Given the description of an element on the screen output the (x, y) to click on. 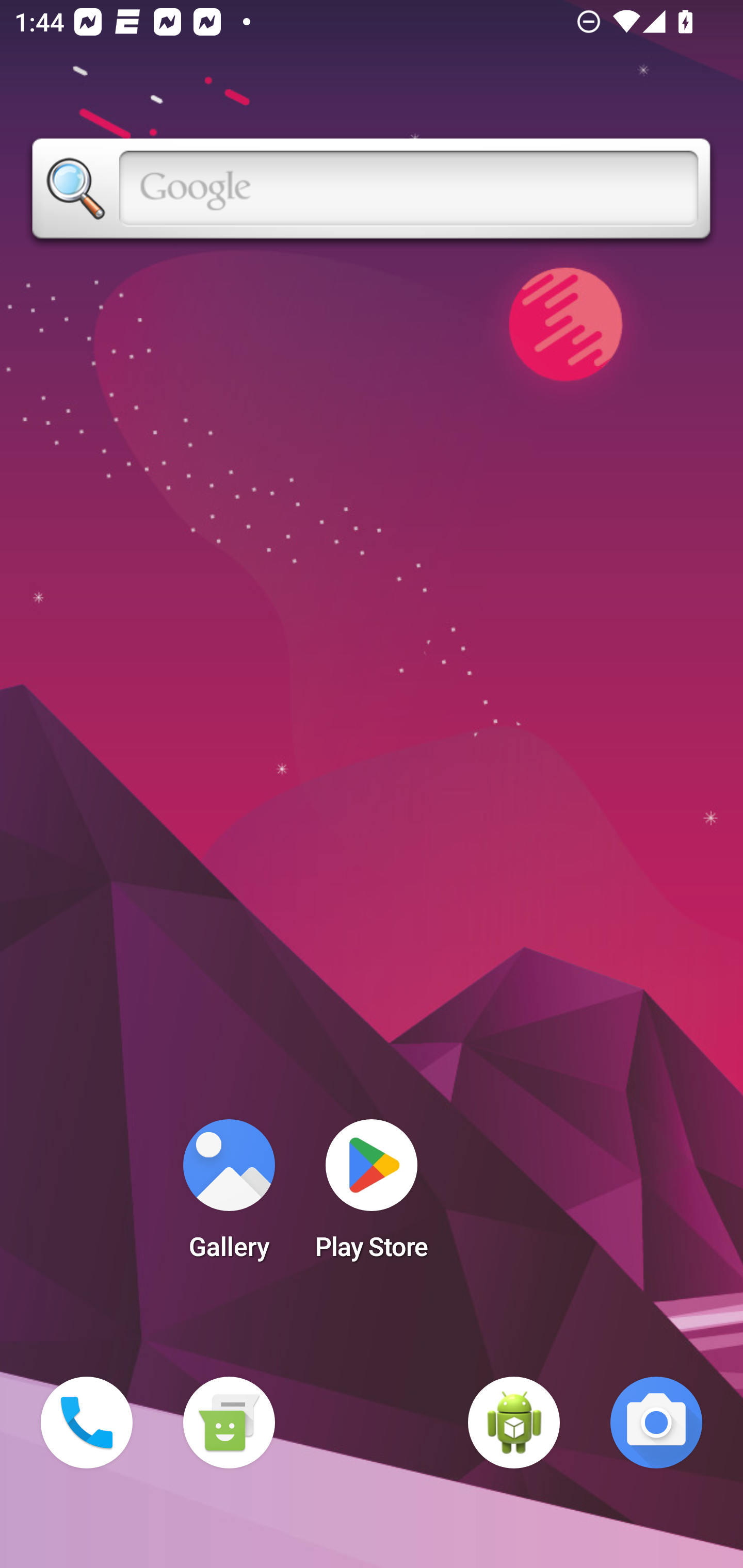
Gallery (228, 1195)
Play Store (371, 1195)
Phone (86, 1422)
Messaging (228, 1422)
WebView Browser Tester (513, 1422)
Camera (656, 1422)
